Given the description of an element on the screen output the (x, y) to click on. 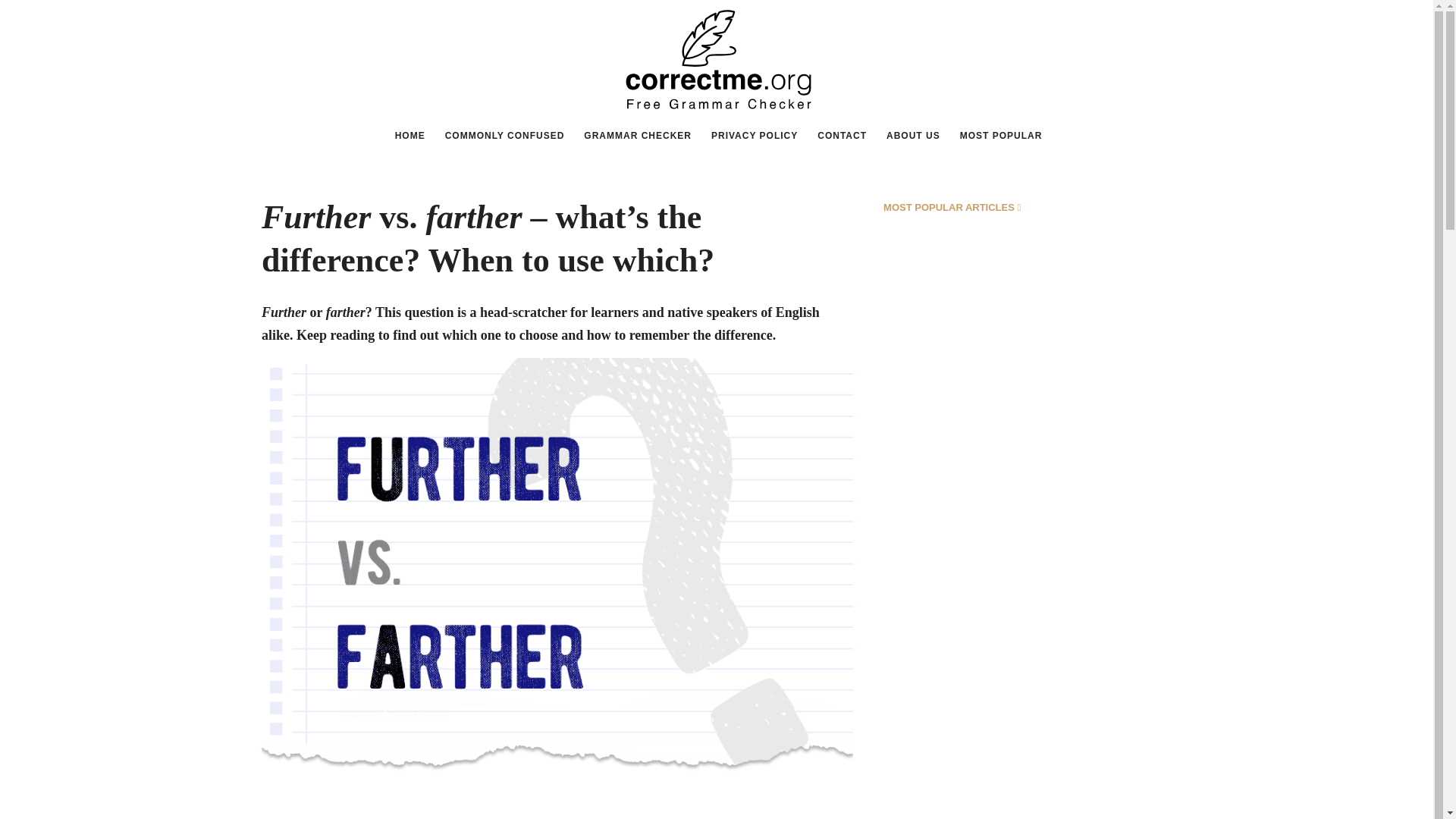
CONTACT (842, 135)
ABOUT US (913, 135)
PRIVACY POLICY (754, 135)
GRAMMAR CHECKER (637, 135)
MOST POPULAR (1001, 135)
COMMONLY CONFUSED (505, 135)
HOME (410, 135)
Advertisement (557, 798)
